Given the description of an element on the screen output the (x, y) to click on. 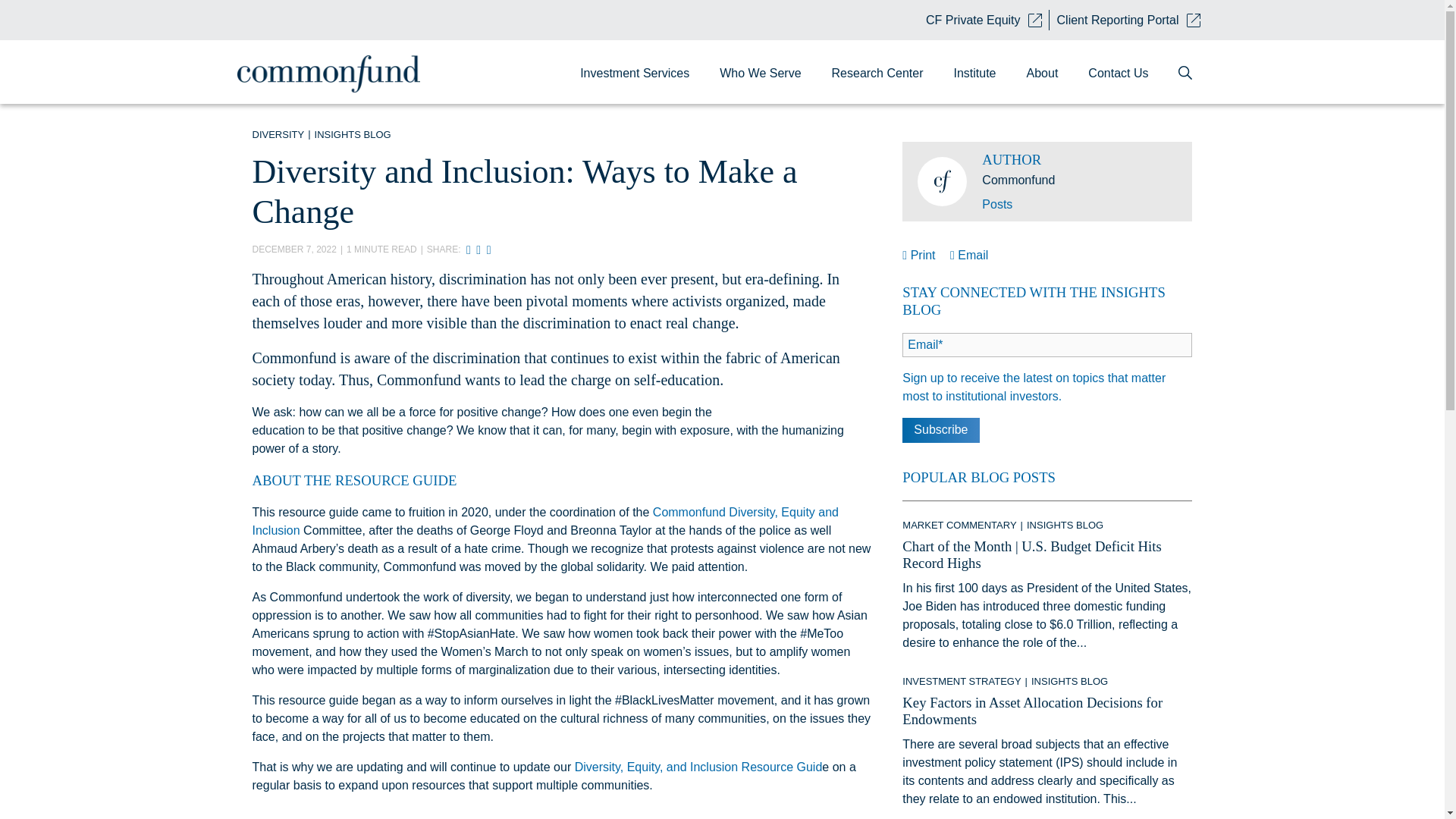
Contact Us (1118, 72)
Subscribe (940, 430)
Home Page Link (347, 74)
Subscribe (940, 430)
DIVERSITY (277, 133)
Key Factors in Asset Allocation Decisions for Endowments (1031, 710)
Investment Services (634, 72)
INSIGHTS BLOG (352, 133)
Diversity, Equity, and Inclusion Resource Guid (696, 766)
About (1042, 72)
Client Reporting Portal (1128, 20)
Print (920, 254)
CF Private Equity (983, 20)
Posts (996, 204)
Commonfund Diversity, Equity and Inclusion (544, 521)
